Given the description of an element on the screen output the (x, y) to click on. 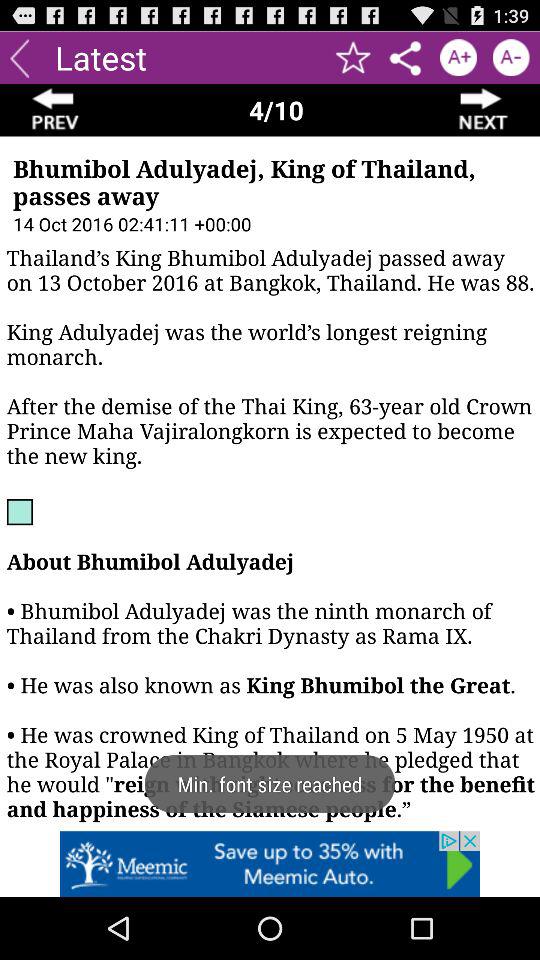
select checkbox (510, 57)
